Given the description of an element on the screen output the (x, y) to click on. 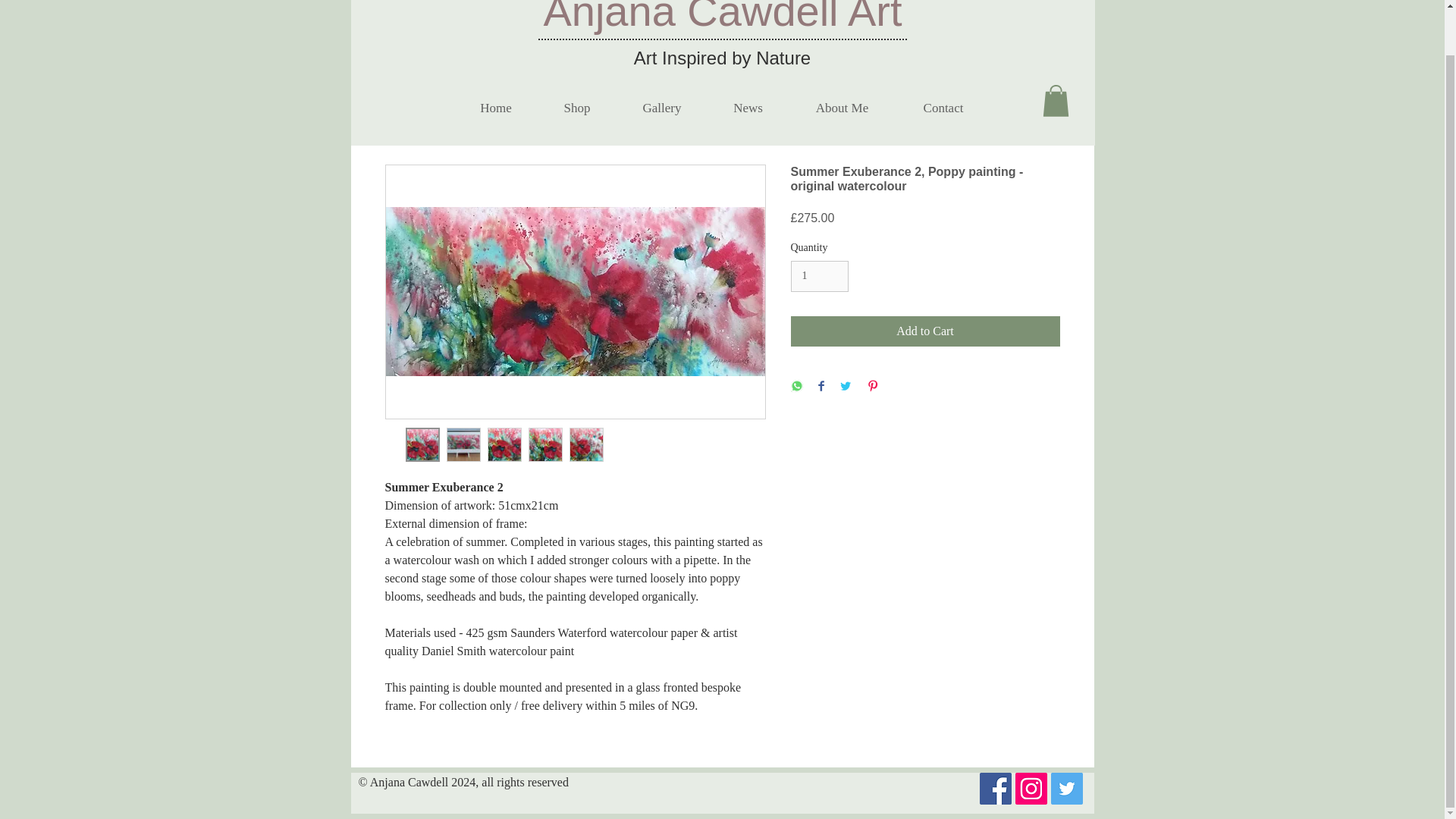
Art Inspired by Nature (721, 57)
Contact (943, 108)
About Me (842, 108)
1 (818, 276)
Gallery (661, 108)
News (748, 108)
Anjana Cawdell Art (722, 17)
Add to Cart (924, 331)
Shop (576, 108)
Home (494, 108)
